Given the description of an element on the screen output the (x, y) to click on. 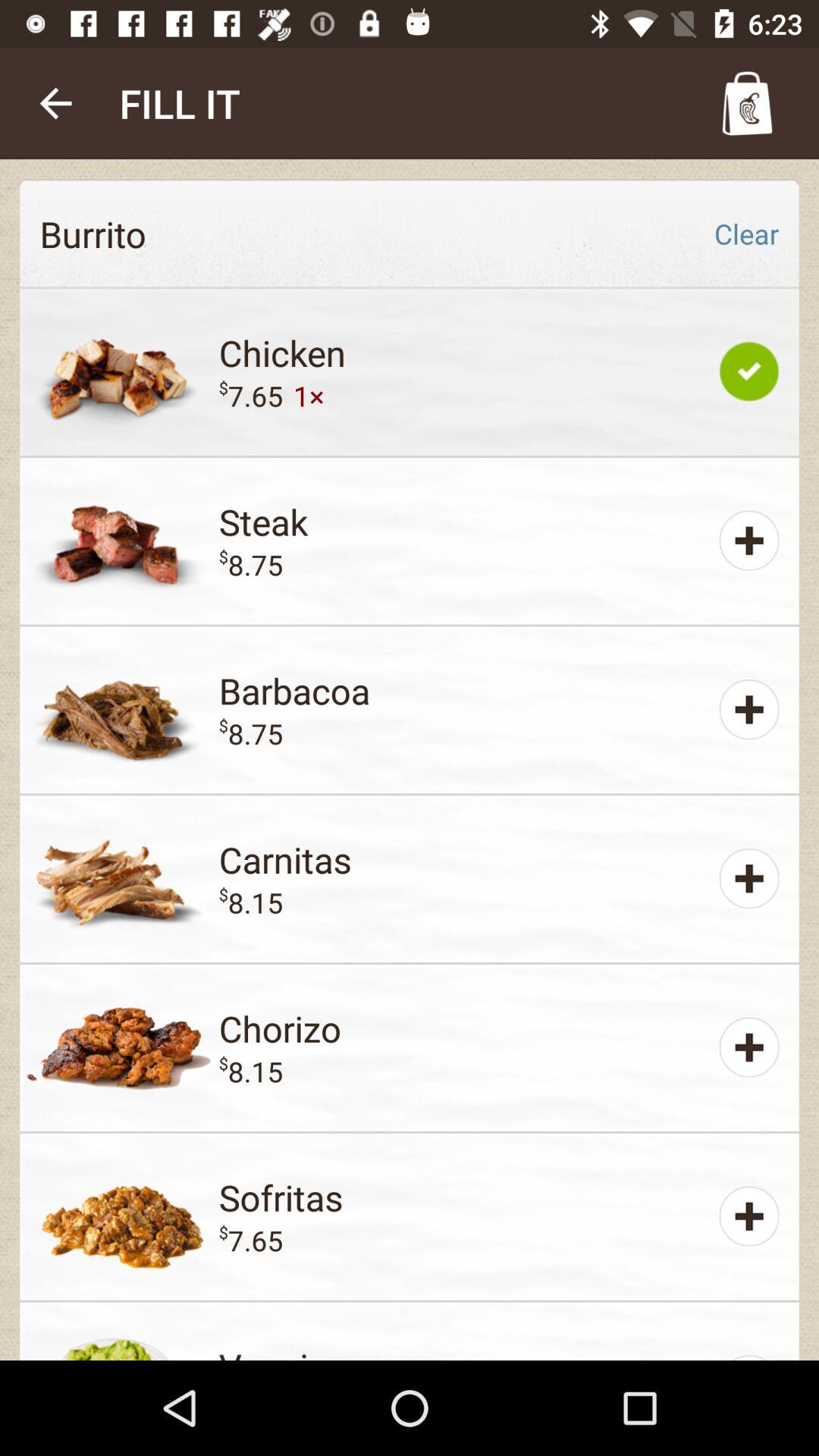
open the icon next to the fill it item (55, 103)
